Given the description of an element on the screen output the (x, y) to click on. 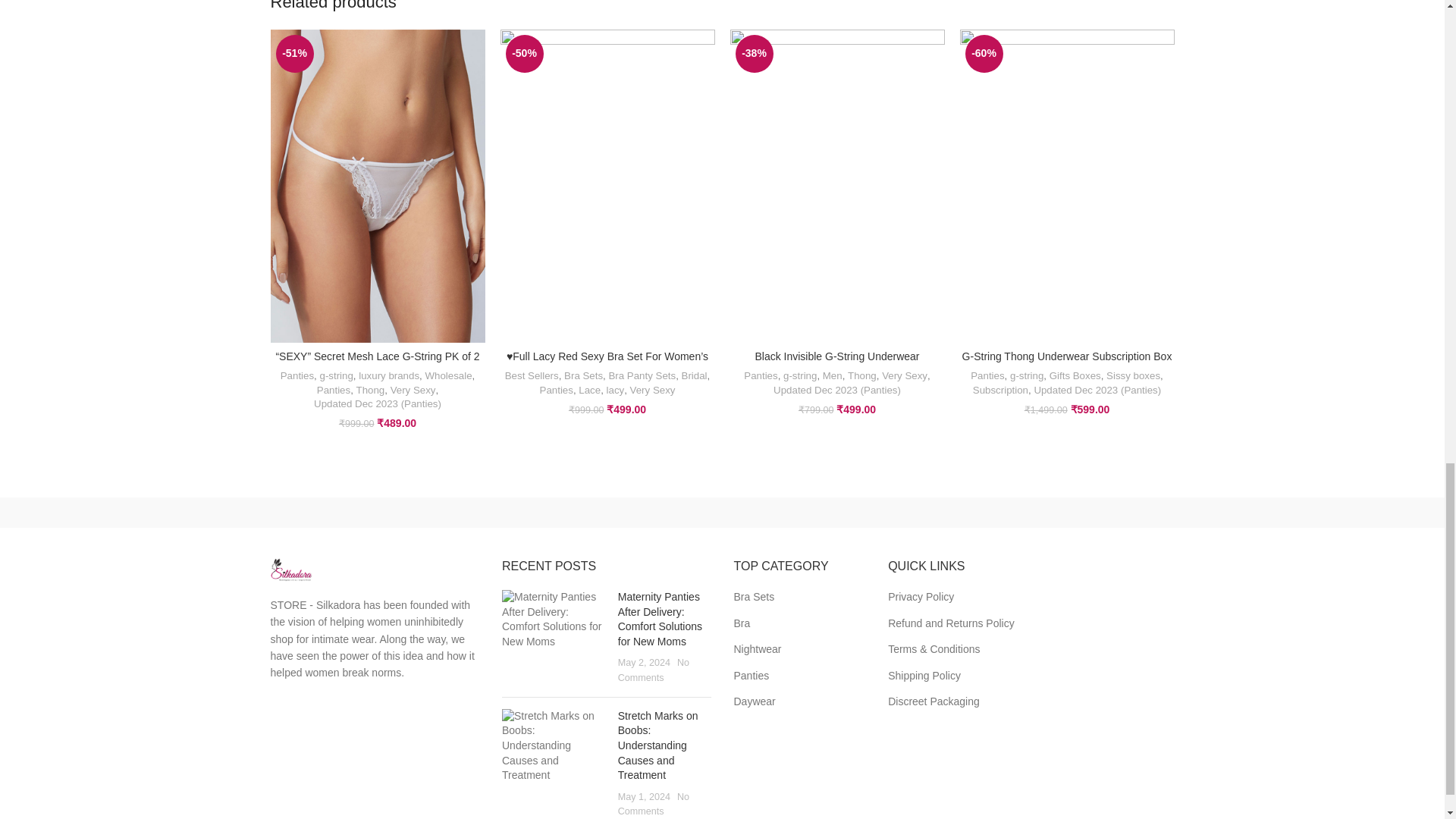
undi (593, 512)
seeret (722, 512)
warnes (463, 512)
wenderlove (333, 512)
